Given the description of an element on the screen output the (x, y) to click on. 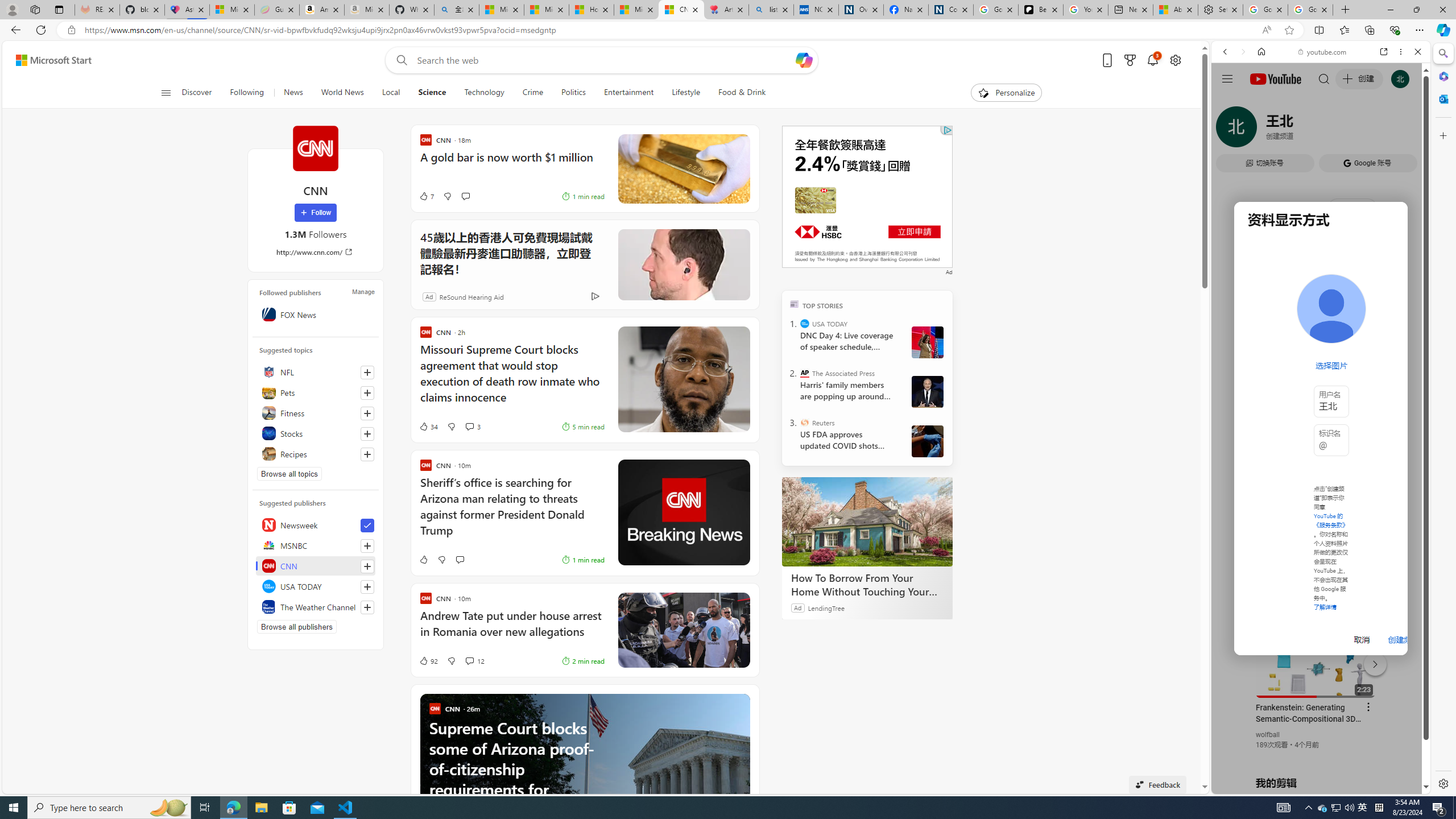
View comments 12 Comment (469, 660)
Science (431, 92)
Lifestyle (685, 92)
AutomationID: canvas (866, 196)
Class: qc-adchoices-link top-right  (946, 129)
Local (390, 92)
IMAGES (1262, 130)
A gold bar is now worth $1 million (511, 163)
youtube.com (1322, 51)
LendingTree (826, 607)
WEB   (1230, 130)
